Given the description of an element on the screen output the (x, y) to click on. 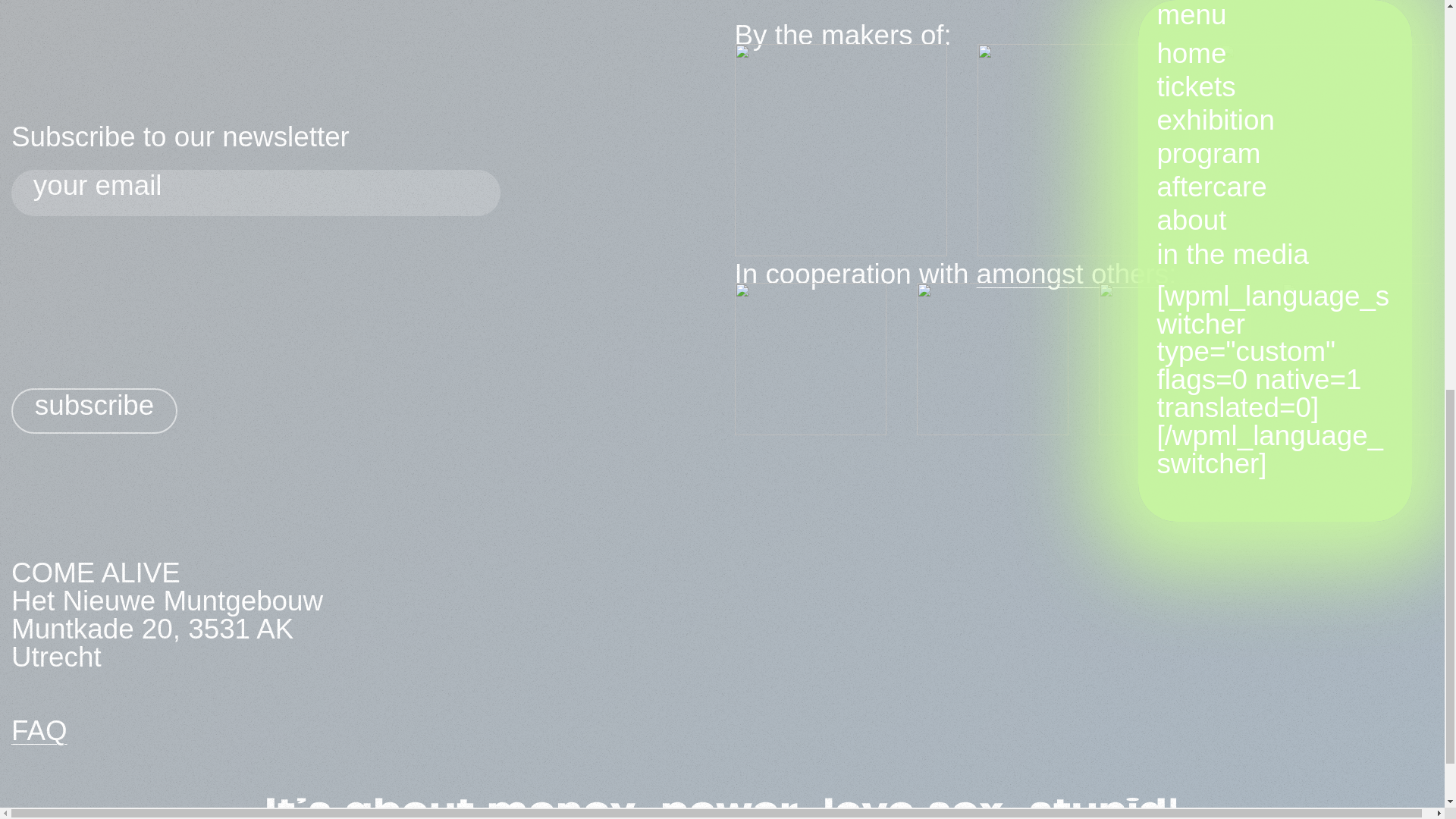
FAQ (38, 730)
subscribe (94, 410)
amongst others (1072, 273)
